Given the description of an element on the screen output the (x, y) to click on. 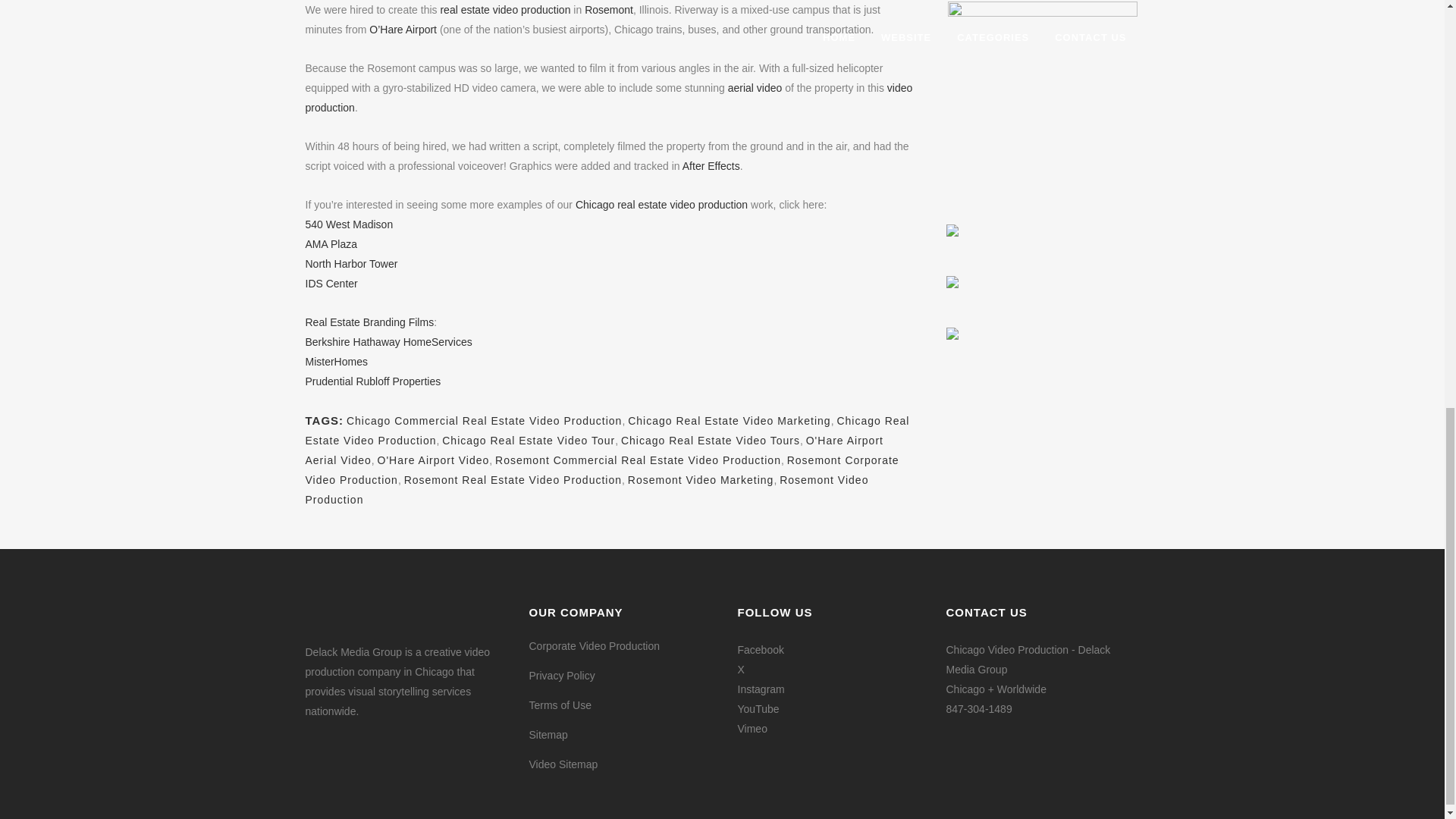
Real Estate Branding Films (368, 322)
video production (531, 9)
Berkshire Hathaway HomeServices (387, 341)
IDS Center (330, 283)
Chicago real estate video production (661, 204)
Rosemont (609, 9)
540 West Madison (348, 224)
real estate (464, 9)
North Harbor Tower (350, 263)
After Effects (710, 165)
